Given the description of an element on the screen output the (x, y) to click on. 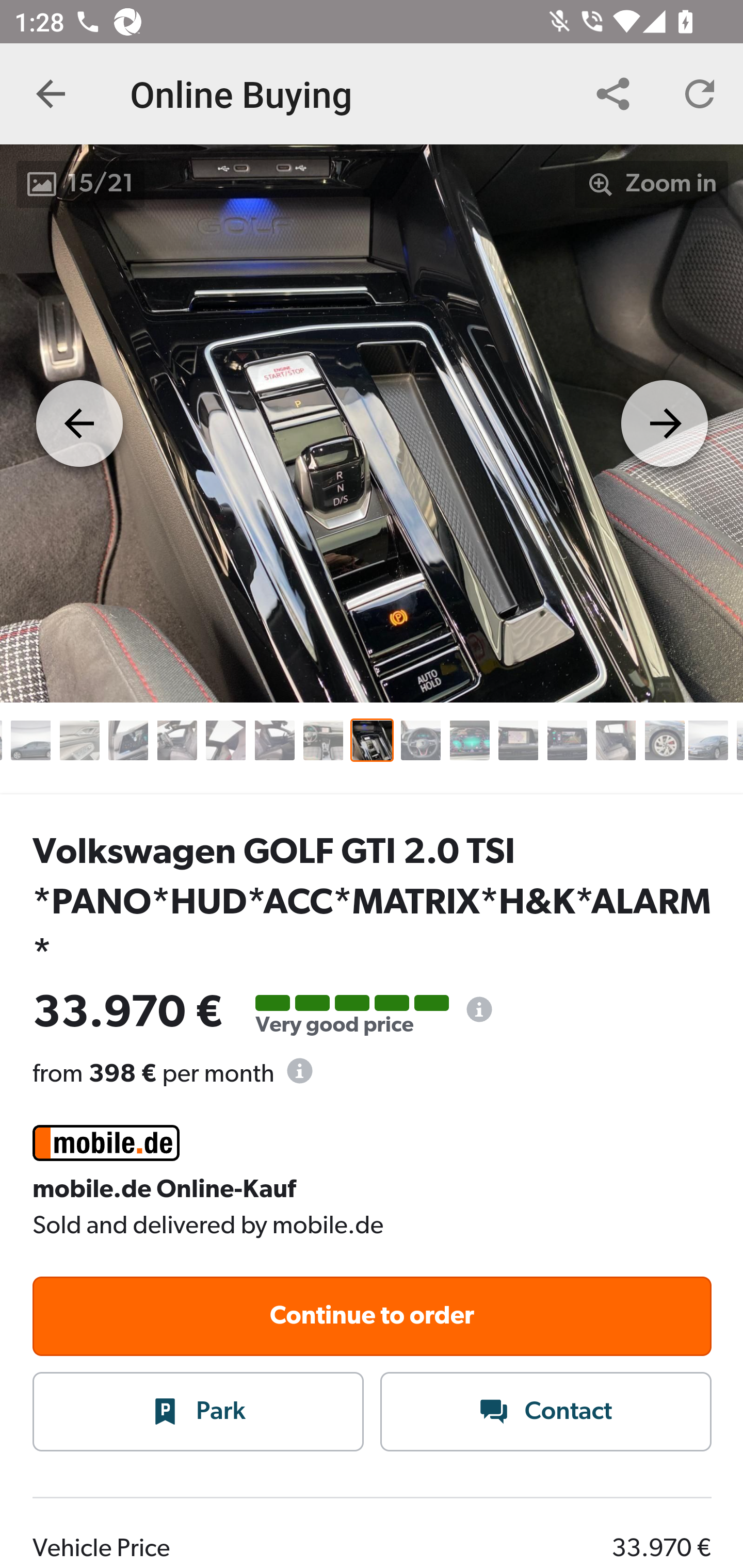
Navigate up (50, 93)
synchronize (612, 93)
synchronize (699, 93)
Zoom in (651, 184)
Park (198, 1412)
Contact (545, 1412)
